Given the description of an element on the screen output the (x, y) to click on. 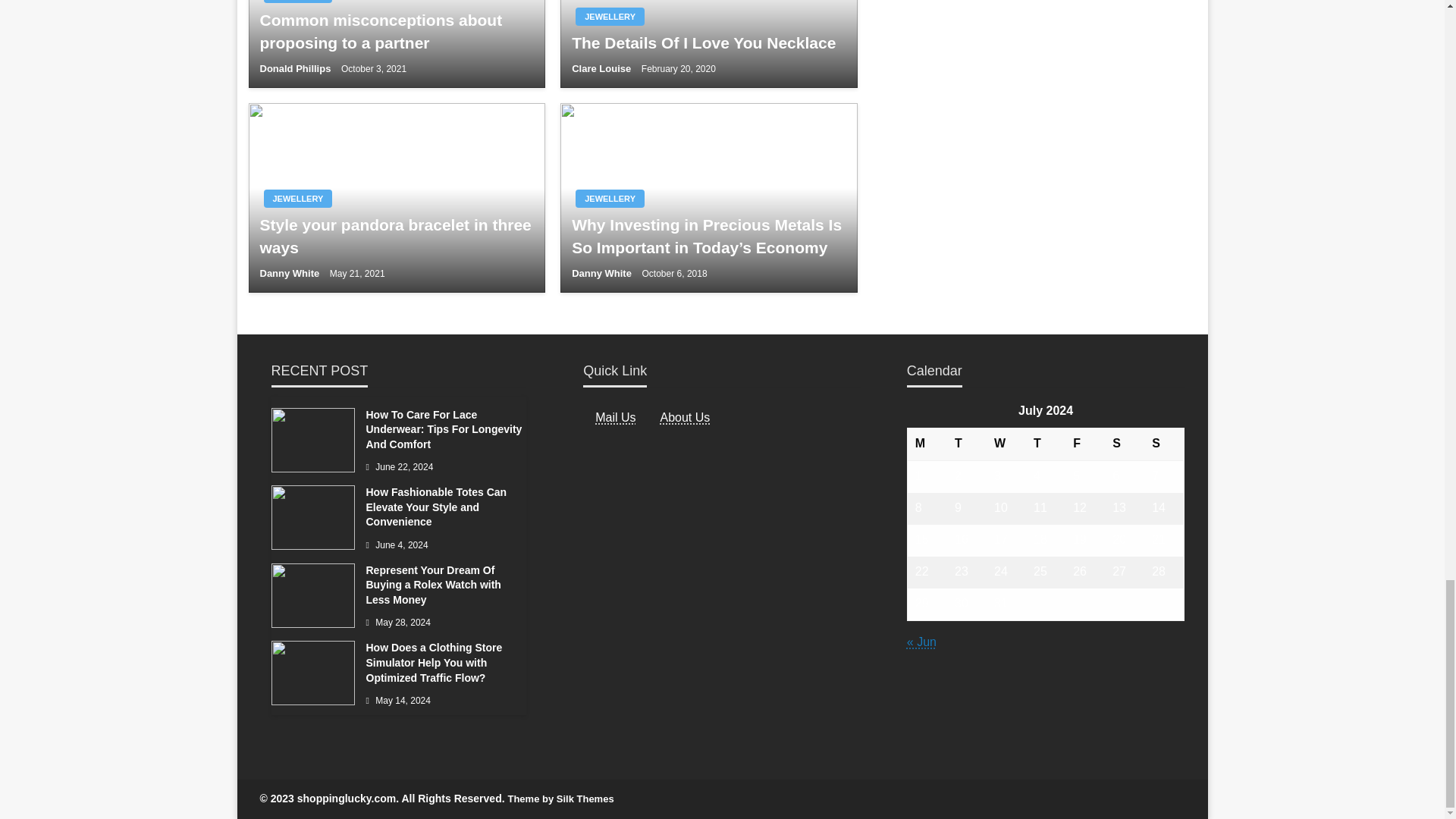
Saturday (1124, 443)
Thursday (1045, 443)
Tuesday (967, 443)
Sunday (1164, 443)
Wednesday (1006, 443)
Friday (1085, 443)
JEWELLERY (298, 1)
Style your pandora bracelet in three ways (396, 235)
Common misconceptions about proposing to a partner (396, 31)
JEWELLERY (298, 198)
Clare Louise (602, 68)
Danny White (290, 273)
Donald Phillips (296, 68)
JEWELLERY (610, 16)
The Details Of I Love You Necklace (708, 42)
